Given the description of an element on the screen output the (x, y) to click on. 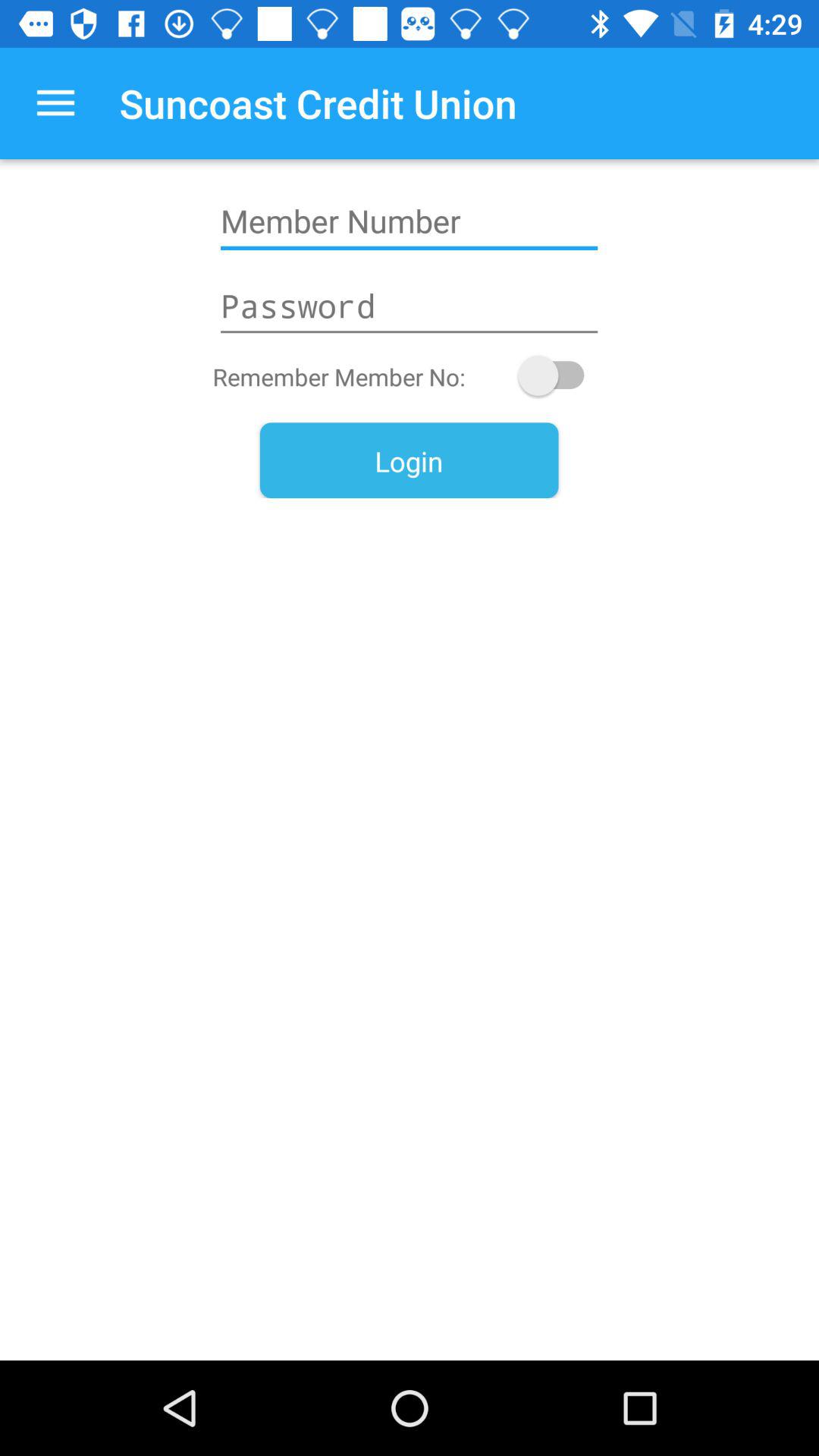
tap the app to the left of suncoast credit union item (55, 103)
